Given the description of an element on the screen output the (x, y) to click on. 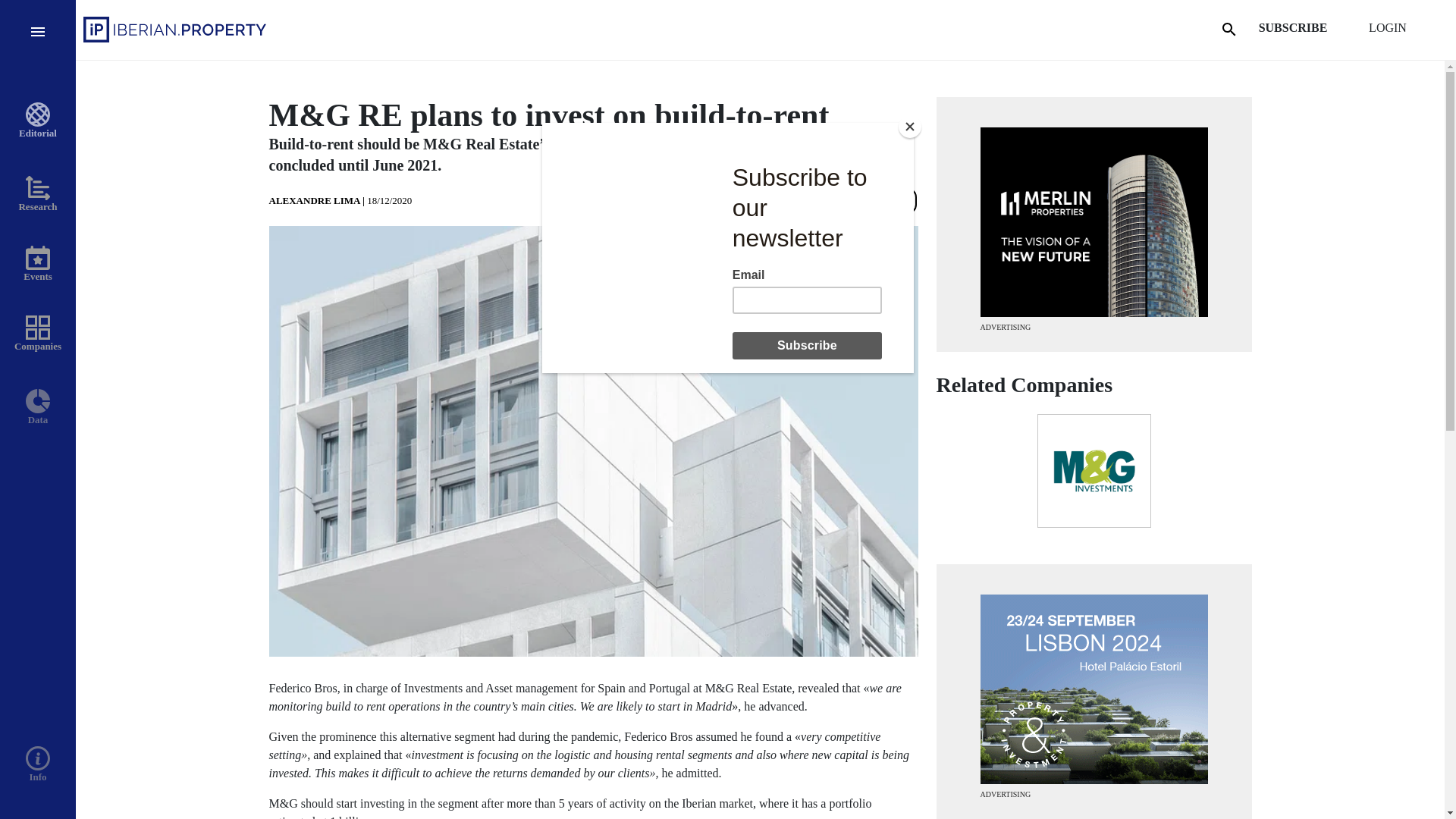
Events (37, 264)
Editorial (37, 120)
LOGIN (1387, 27)
Data (37, 407)
Companies (37, 333)
SUBSCRIBE (1292, 27)
Info (37, 624)
Research (37, 194)
